Given the description of an element on the screen output the (x, y) to click on. 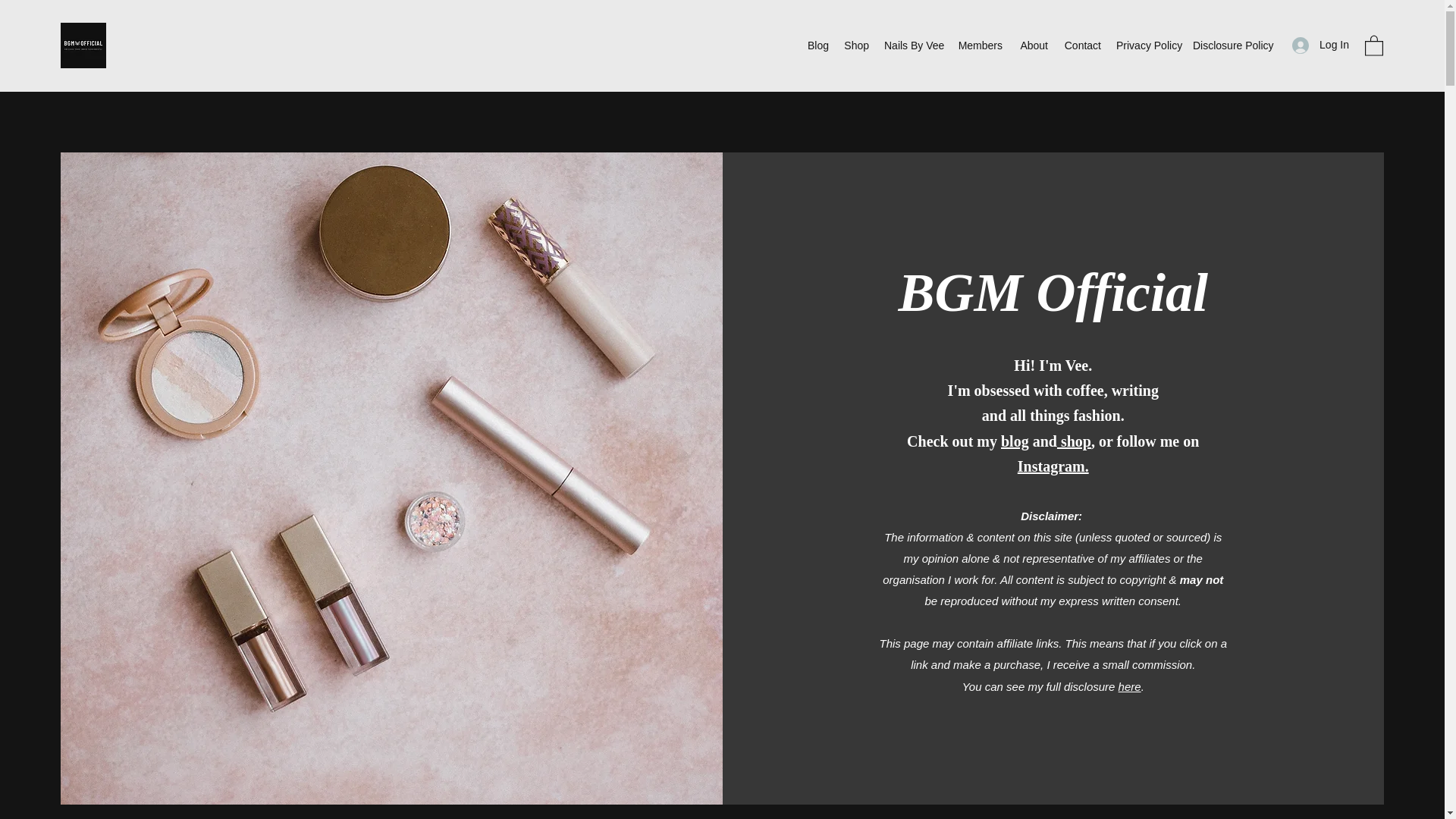
Shop (855, 45)
About (1032, 45)
Log In (1320, 44)
Contact (1081, 45)
Disclosure Policy (1231, 45)
here (1129, 686)
 shop (1073, 441)
Nails By Vee (912, 45)
Instagram. (1053, 466)
blog (1015, 441)
Members (979, 45)
Blog (817, 45)
Privacy Policy (1146, 45)
